Given the description of an element on the screen output the (x, y) to click on. 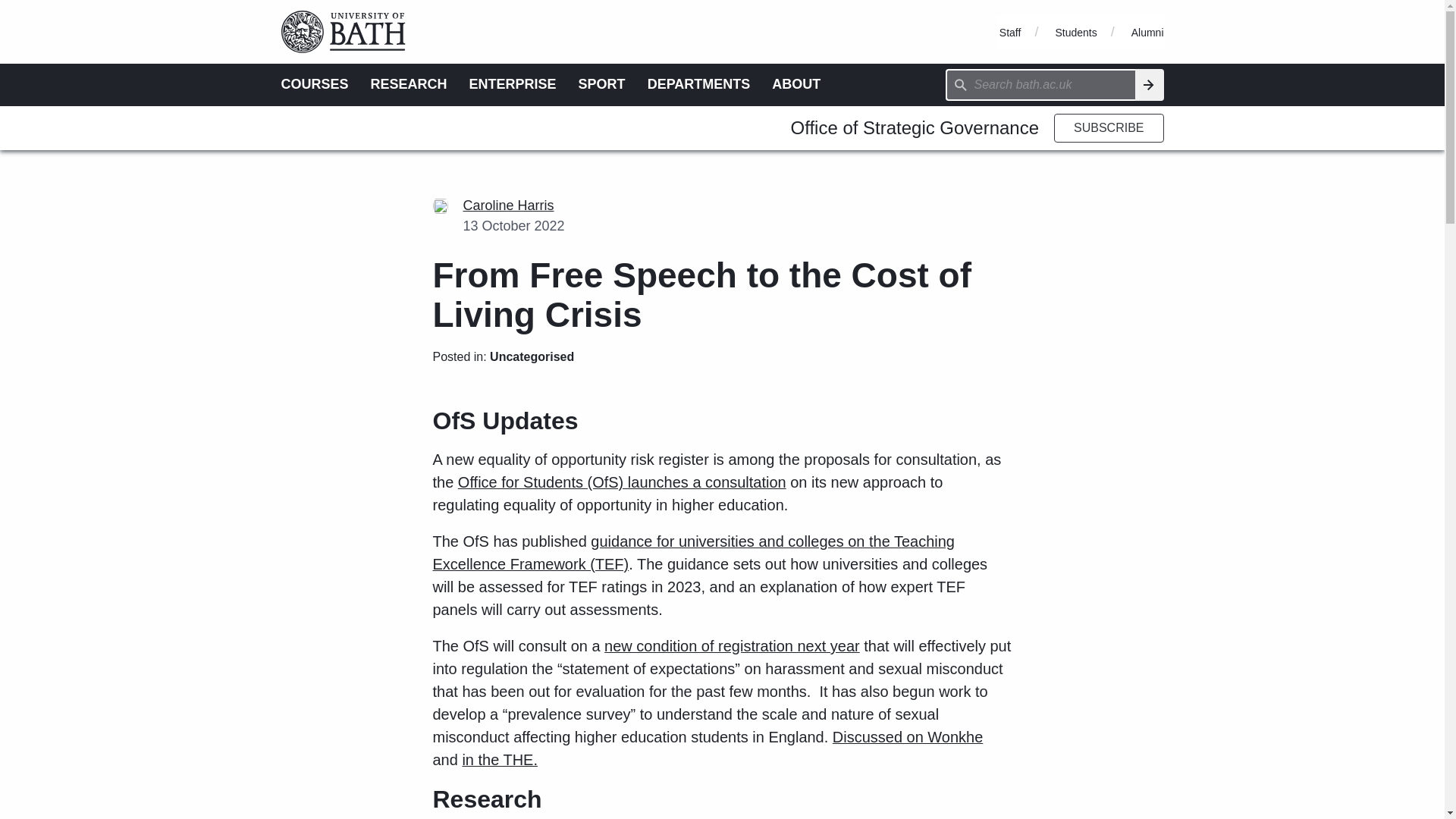
ENTERPRISE (512, 83)
Discussed on Wonkhe (907, 736)
in the THE. (499, 759)
Office of Strategic Governance (914, 127)
ABOUT (796, 83)
DEPARTMENTS (699, 83)
Type search term here (1039, 84)
Uncategorised (531, 356)
SUBSCRIBE (1108, 127)
RESEARCH (408, 83)
